Given the description of an element on the screen output the (x, y) to click on. 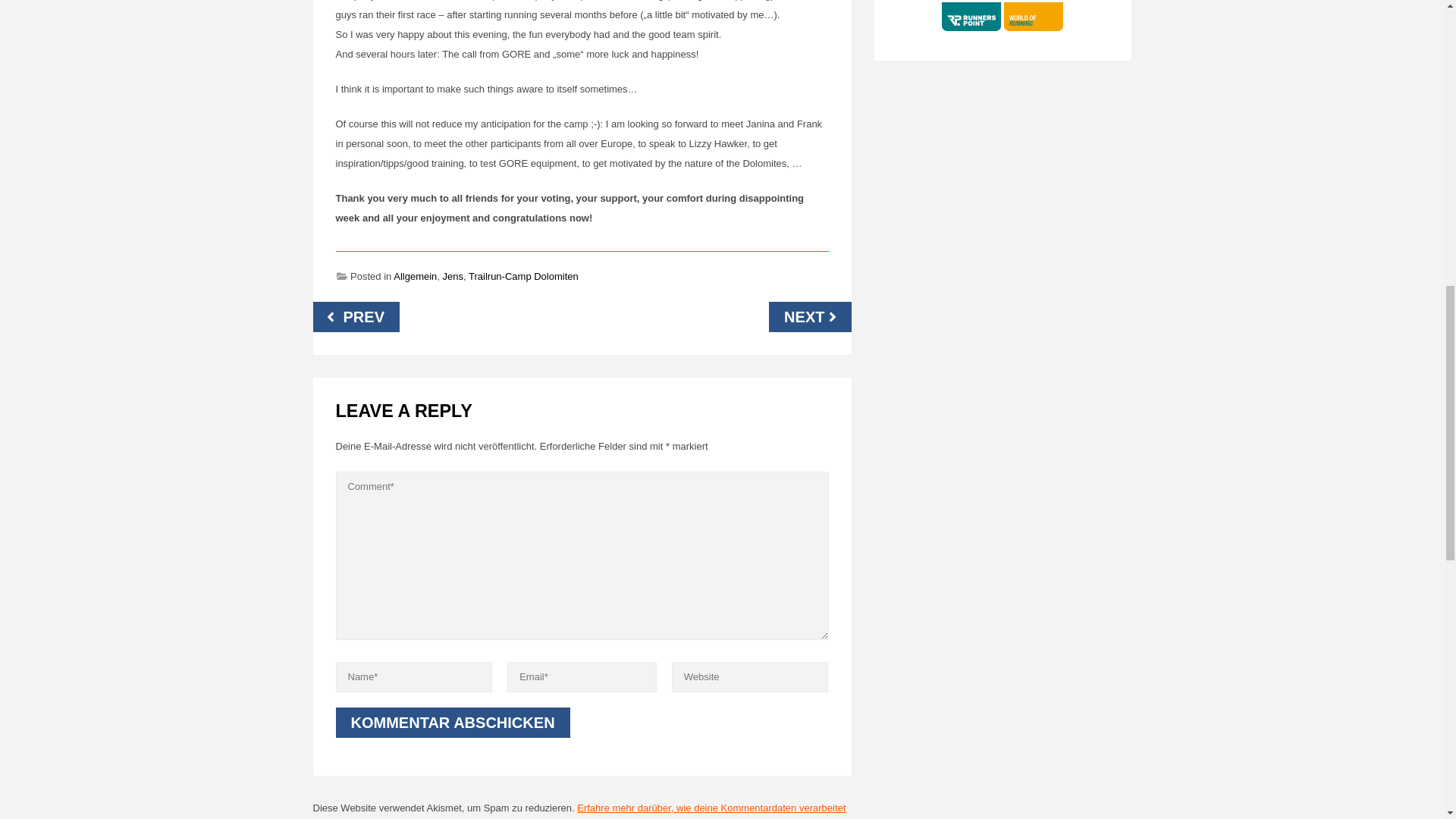
PREV (355, 317)
Allgemein (414, 276)
Kommentar abschicken (451, 722)
Jens (452, 276)
Kommentar abschicken (451, 722)
NEXT (809, 317)
Trailrun-Camp Dolomiten (523, 276)
